Given the description of an element on the screen output the (x, y) to click on. 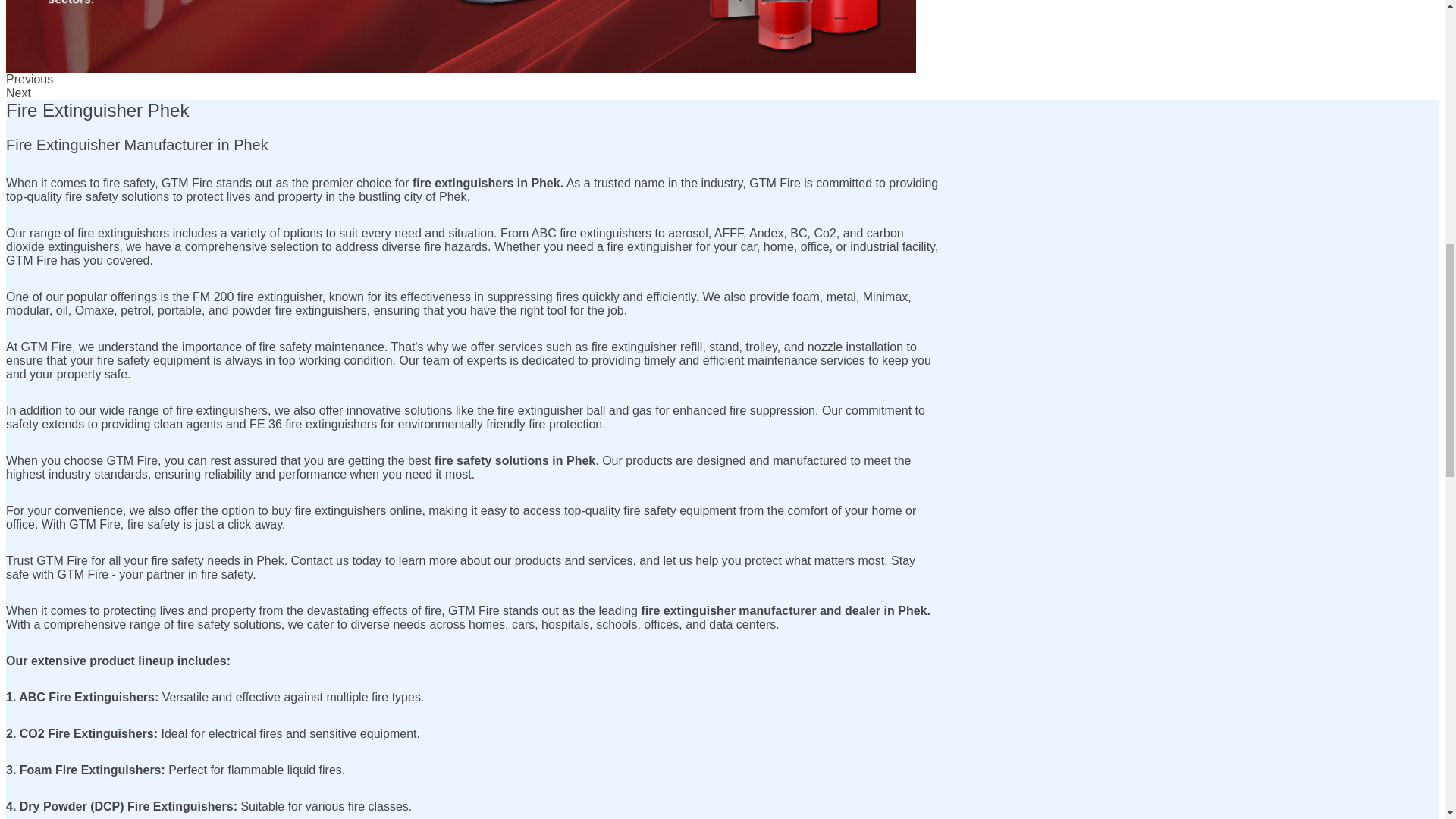
Fire detection system (460, 36)
